Given the description of an element on the screen output the (x, y) to click on. 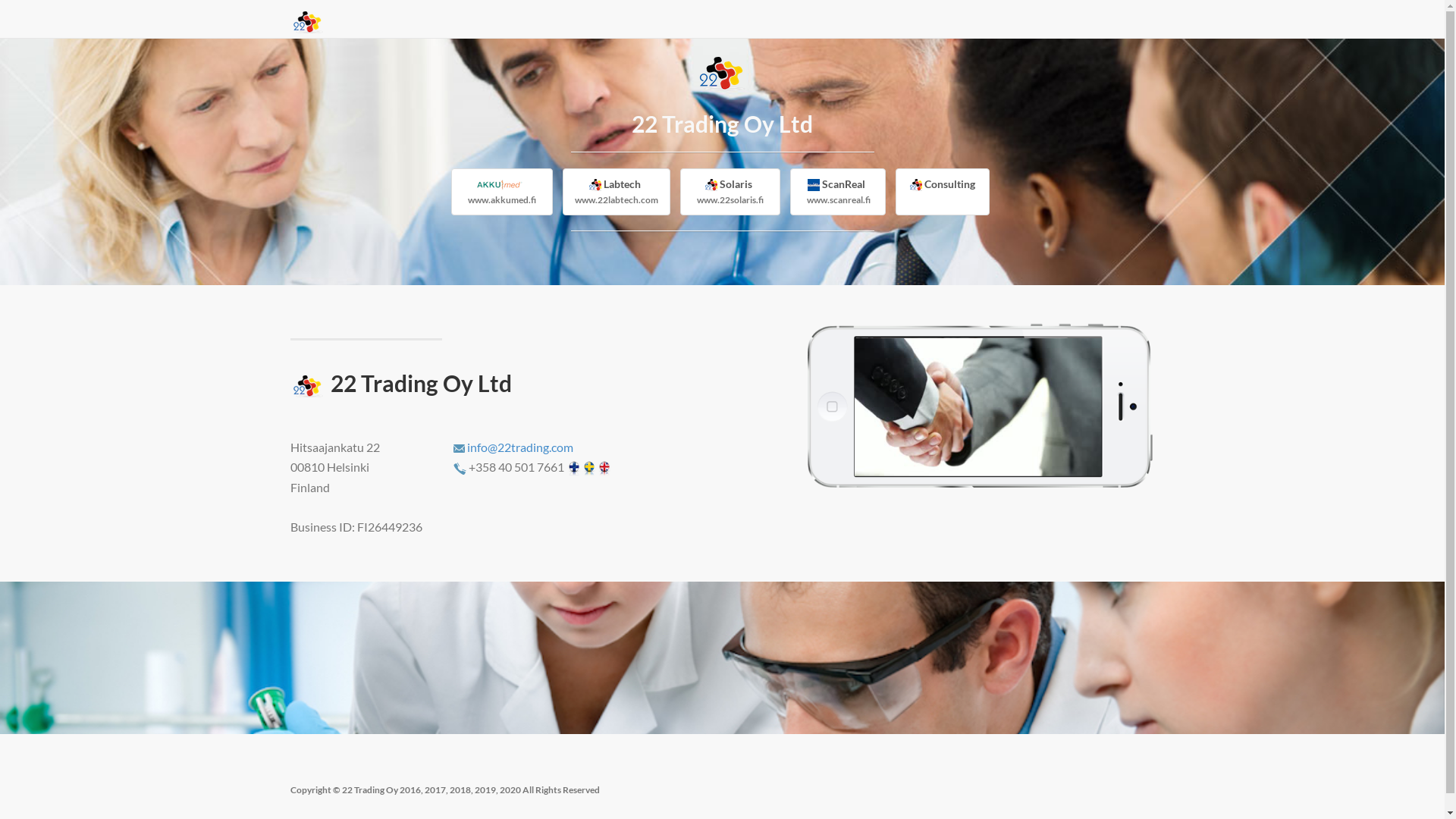
Labtech  
www.22labtech.com Element type: text (616, 191)
info@22trading.com Element type: text (520, 447)
 
   www.akkumed.fi    Element type: text (501, 191)
  ScanReal   
   www.scanreal.fi   Element type: text (837, 191)
  Consulting 
  Element type: text (942, 191)
Solaris  
   www.22solaris.fi    Element type: text (730, 191)
